Given the description of an element on the screen output the (x, y) to click on. 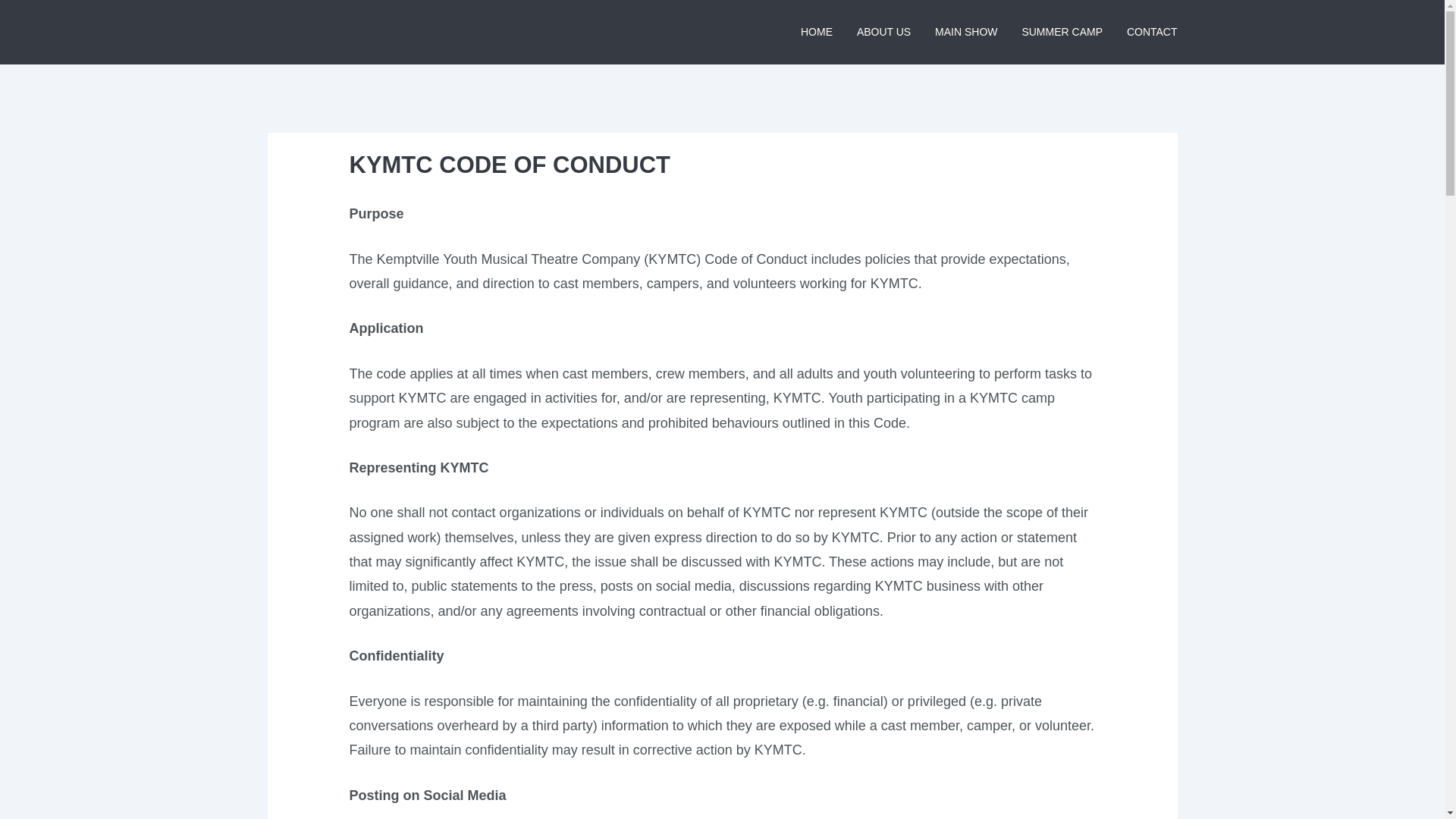
ABOUT US (883, 31)
MAIN SHOW (965, 31)
CONTACT (1146, 31)
SUMMER CAMP (1061, 31)
HOME (821, 31)
